Given the description of an element on the screen output the (x, y) to click on. 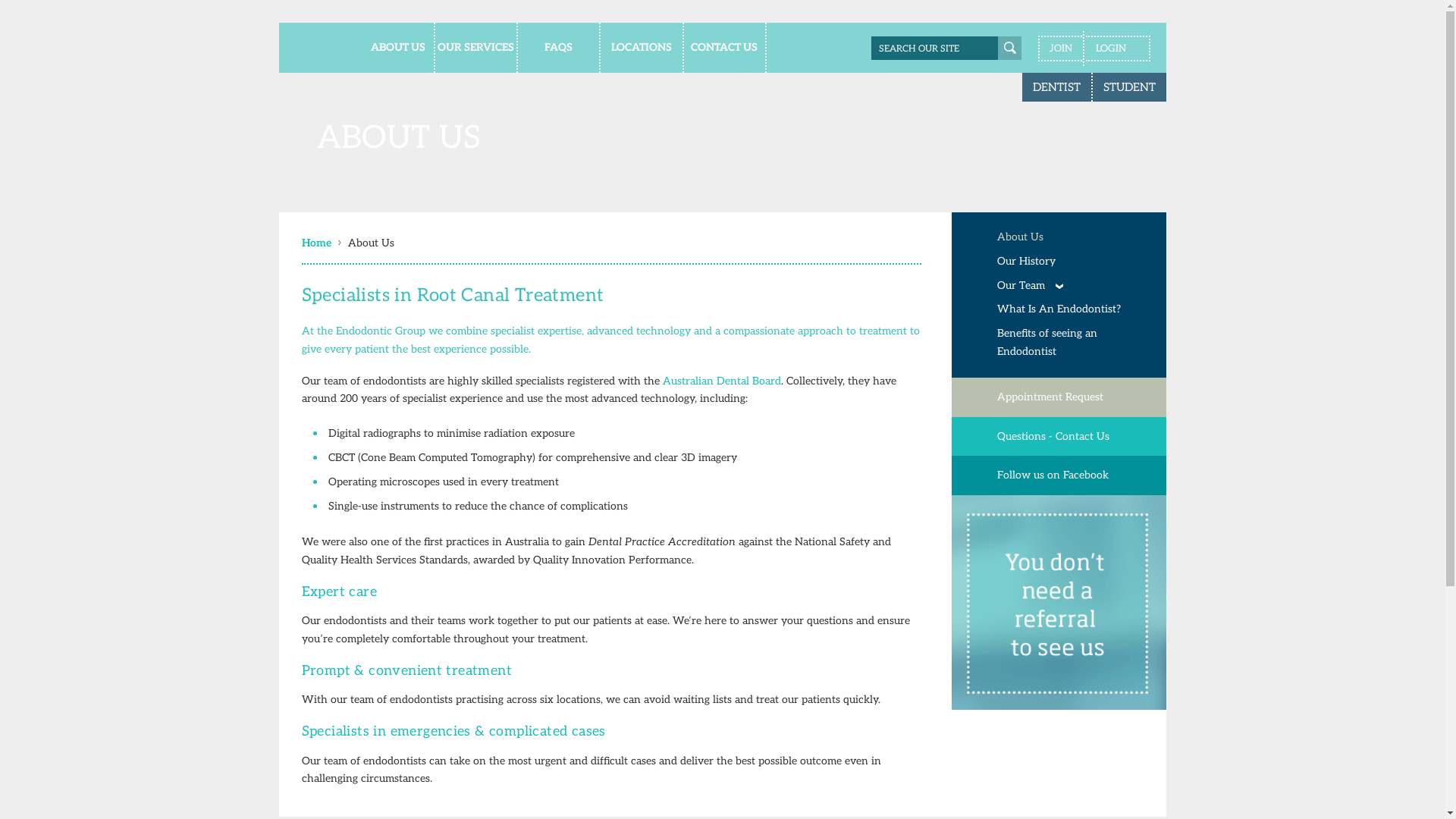
LOCATIONS Element type: text (641, 47)
DENTIST Element type: text (1057, 86)
Appointment Request Element type: text (1058, 397)
FAQS Element type: text (558, 47)
Australian Dental Board Element type: text (721, 380)
OUR SERVICES Element type: text (476, 47)
Our History Element type: text (1072, 261)
ABOUT US Element type: text (392, 47)
About Us Element type: text (372, 242)
Home Element type: text (319, 242)
JOIN Element type: text (1059, 48)
About Us Element type: text (1072, 237)
Questions - Contact Us Element type: text (1058, 436)
Benefits of seeing an Endodontist Element type: text (1072, 342)
What Is An Endodontist? Element type: text (1072, 309)
CONTACT US Element type: text (725, 47)
STUDENT Element type: text (1128, 86)
LOGIN Element type: text (1117, 48)
Our Team Element type: text (1072, 285)
Follow us on Facebook Element type: text (1058, 475)
